Given the description of an element on the screen output the (x, y) to click on. 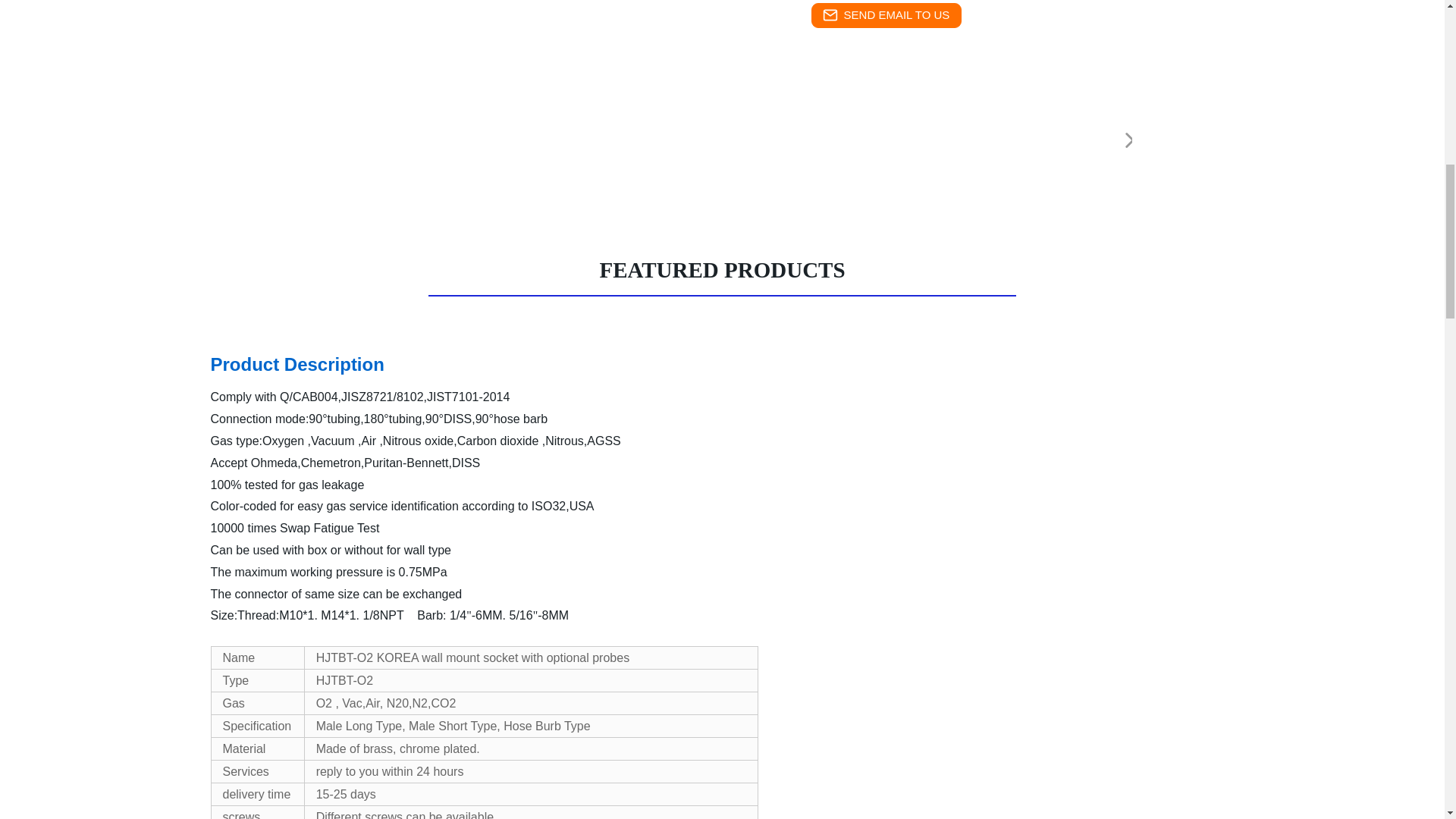
SEND EMAIL TO US (885, 15)
